Given the description of an element on the screen output the (x, y) to click on. 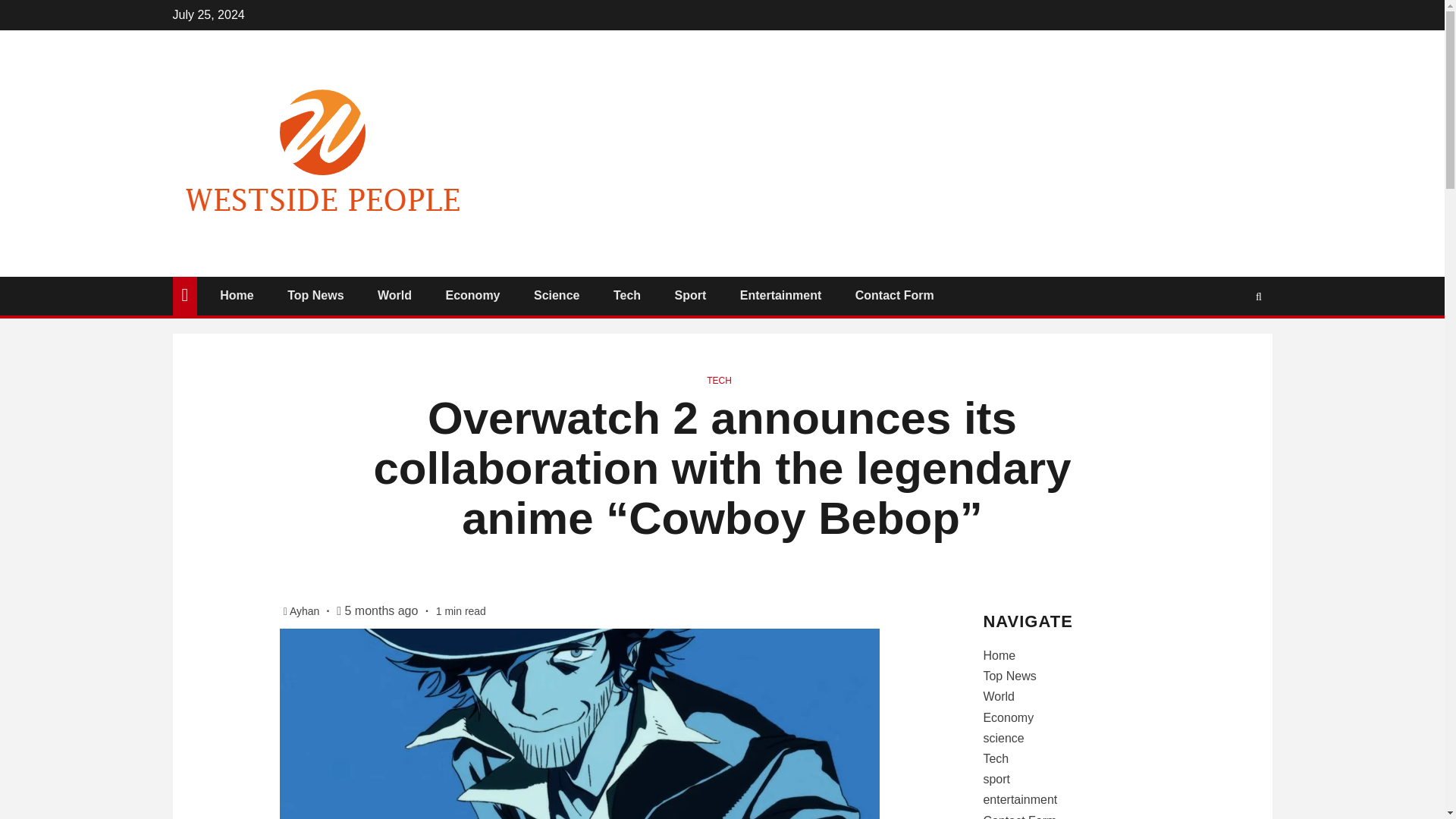
TECH (719, 380)
Search (1229, 341)
Search (1258, 296)
Economy (472, 295)
Sport (690, 295)
Science (556, 295)
Ayhan (305, 611)
Home (236, 295)
Entertainment (780, 295)
World (394, 295)
Tech (626, 295)
Top News (314, 295)
Contact Form (895, 295)
